Given the description of an element on the screen output the (x, y) to click on. 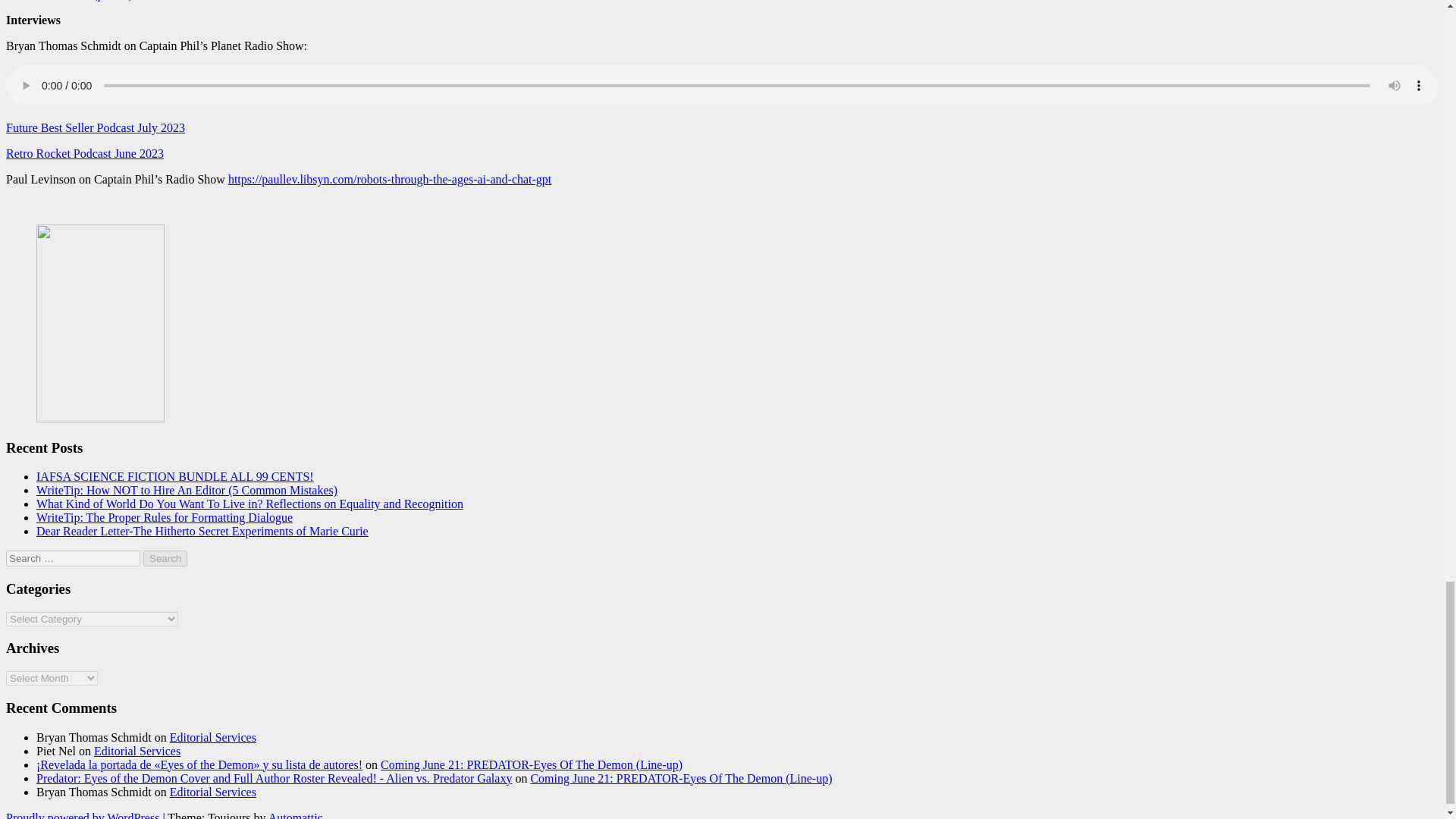
Search (164, 558)
Search (164, 558)
